Given the description of an element on the screen output the (x, y) to click on. 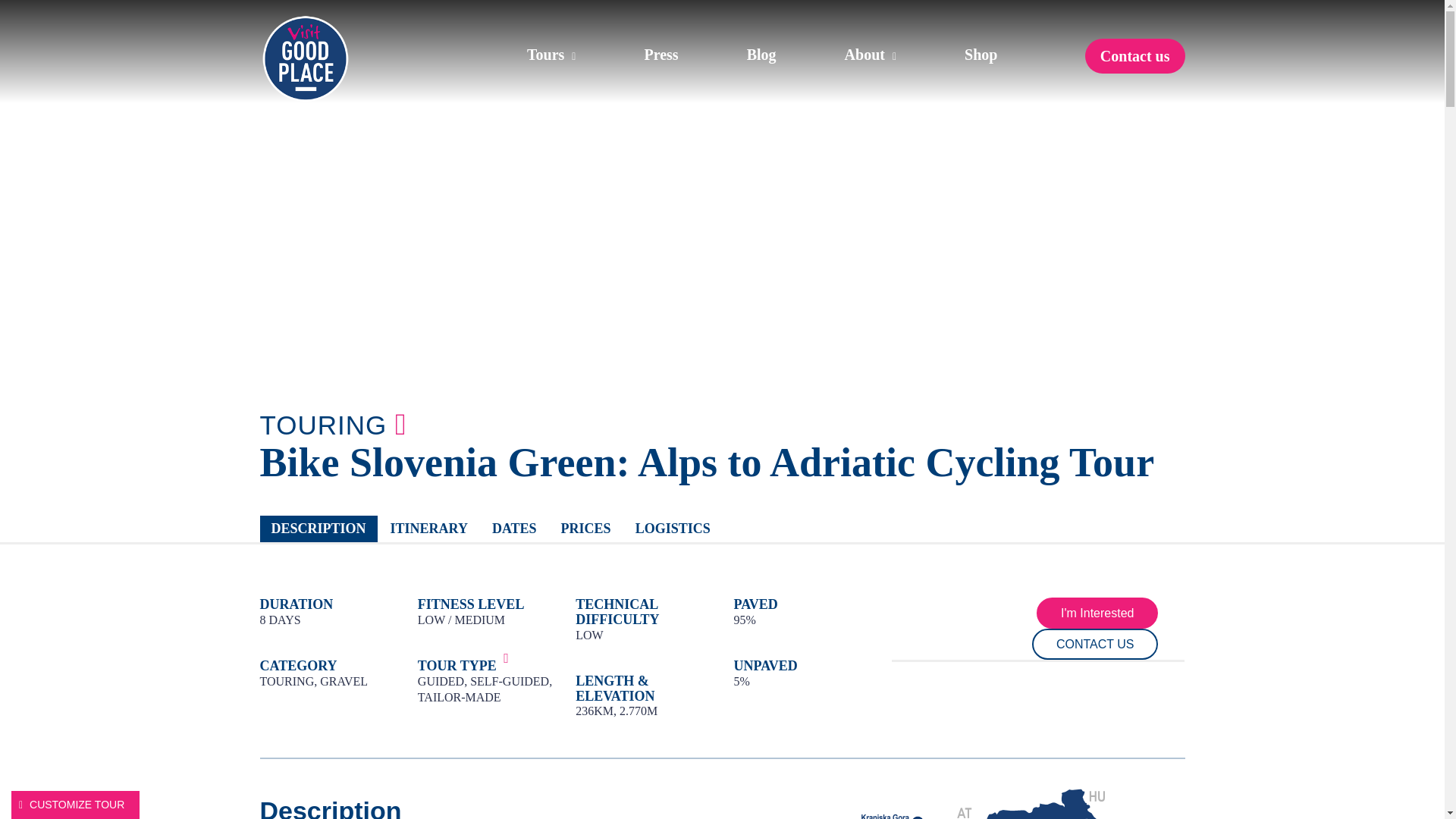
PRICES (586, 528)
I'M Interested (1096, 612)
DATES (514, 528)
TOURING (323, 424)
Contact us (1134, 55)
Tours (583, 54)
ITINERARY (428, 528)
Blog (793, 54)
Shop (1012, 54)
Press (692, 54)
